Given the description of an element on the screen output the (x, y) to click on. 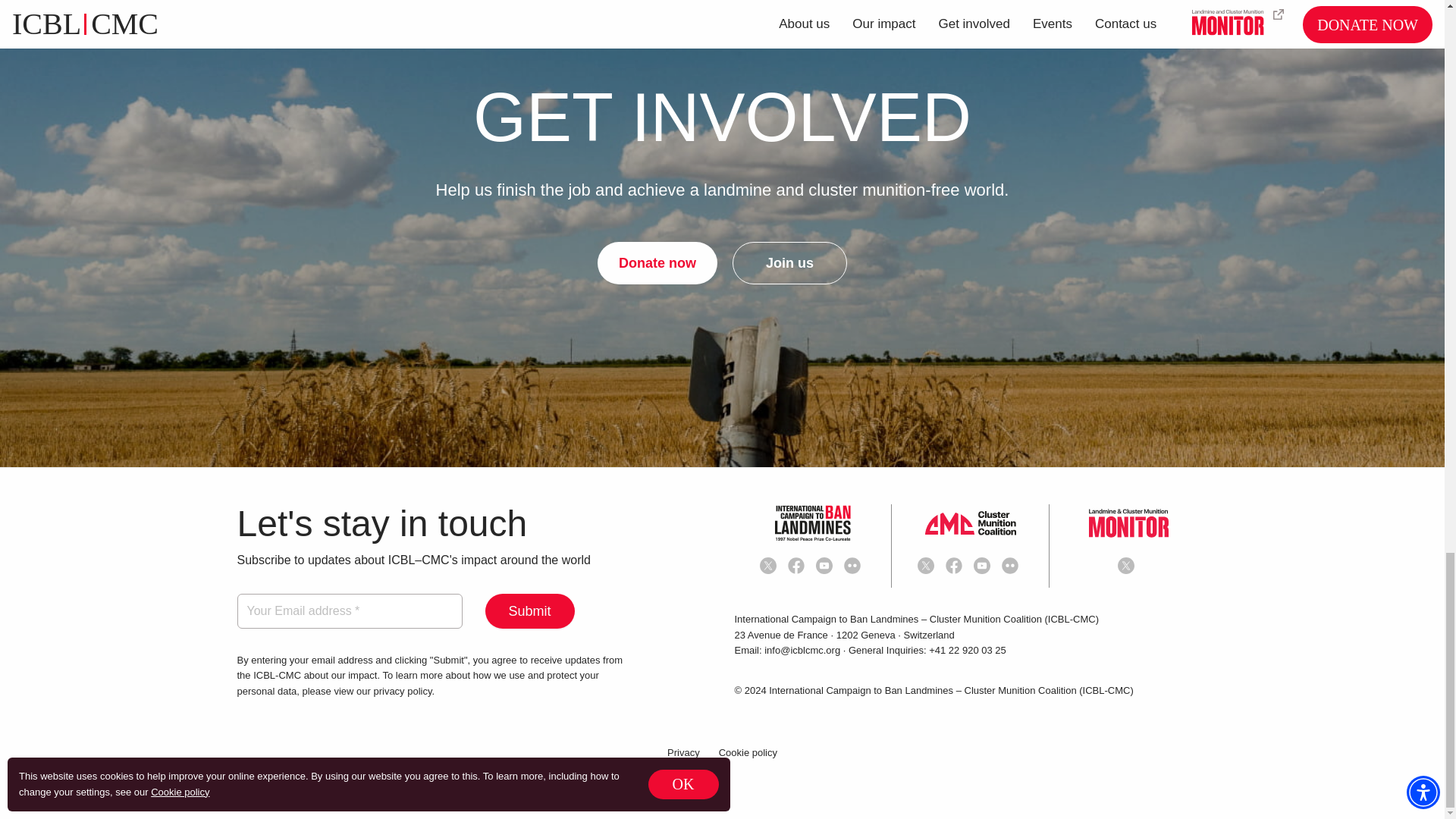
Youtube (984, 565)
Facebook (956, 565)
Twitter (770, 565)
Facebook (796, 565)
Flickr (855, 565)
Twitter (768, 565)
Facebook (798, 565)
Donate now (656, 262)
Youtube (826, 565)
Twitter (928, 565)
Youtube (823, 565)
Submit (529, 610)
Join us (789, 262)
Flickr (852, 565)
Flickr (1012, 565)
